Given the description of an element on the screen output the (x, y) to click on. 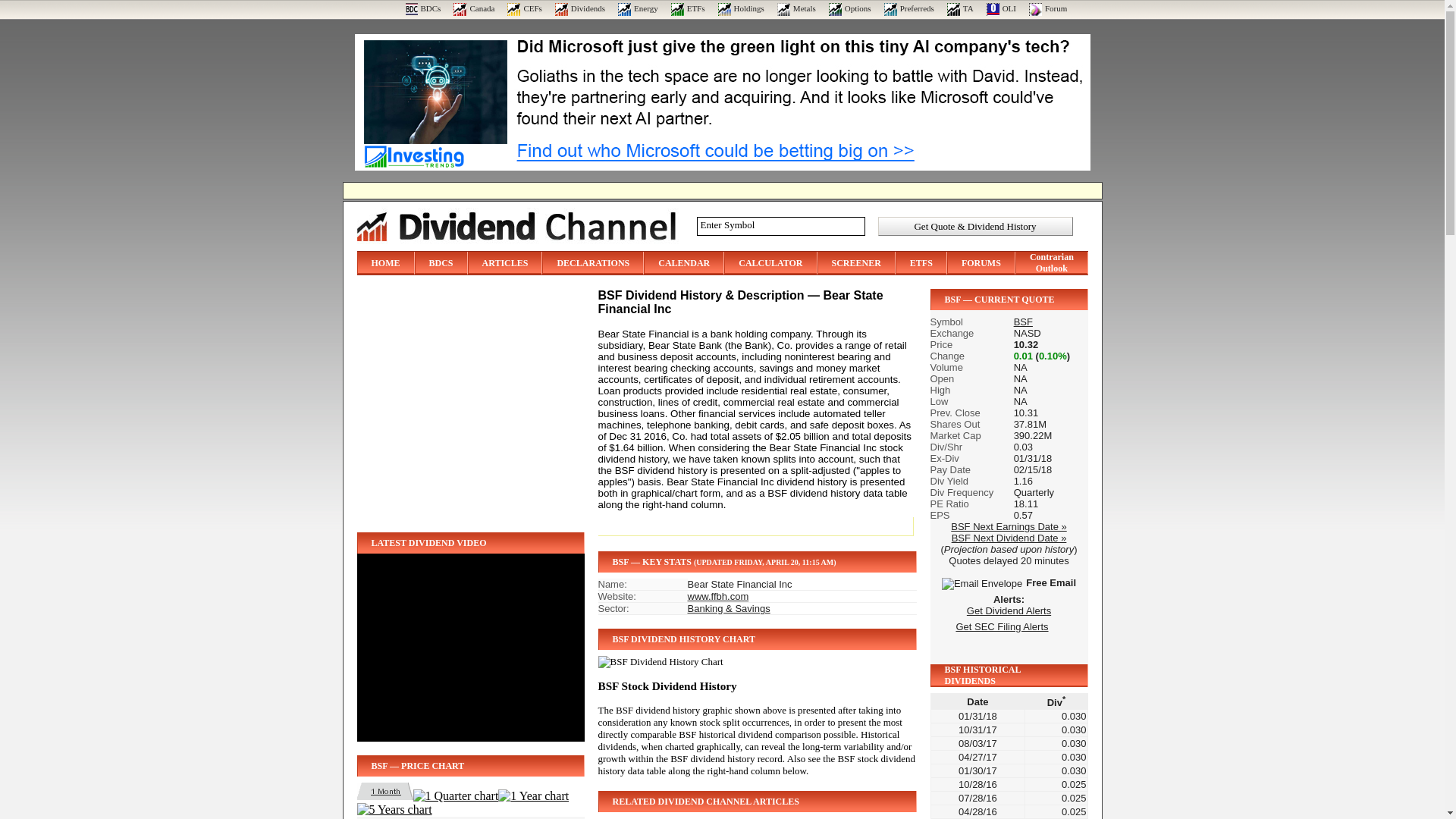
CEFs (523, 8)
Stock Options Channel (849, 8)
www.ffbh.com (718, 595)
ARTICLES (504, 262)
Holdings Channel (740, 8)
Forum (1048, 8)
Dividends (579, 8)
BDC Investor (422, 8)
ValueForum (1048, 8)
TA (960, 8)
CALCULATOR (770, 262)
HOME (385, 262)
Metals (796, 8)
ETF Channel (687, 8)
ETFs (687, 8)
